Given the description of an element on the screen output the (x, y) to click on. 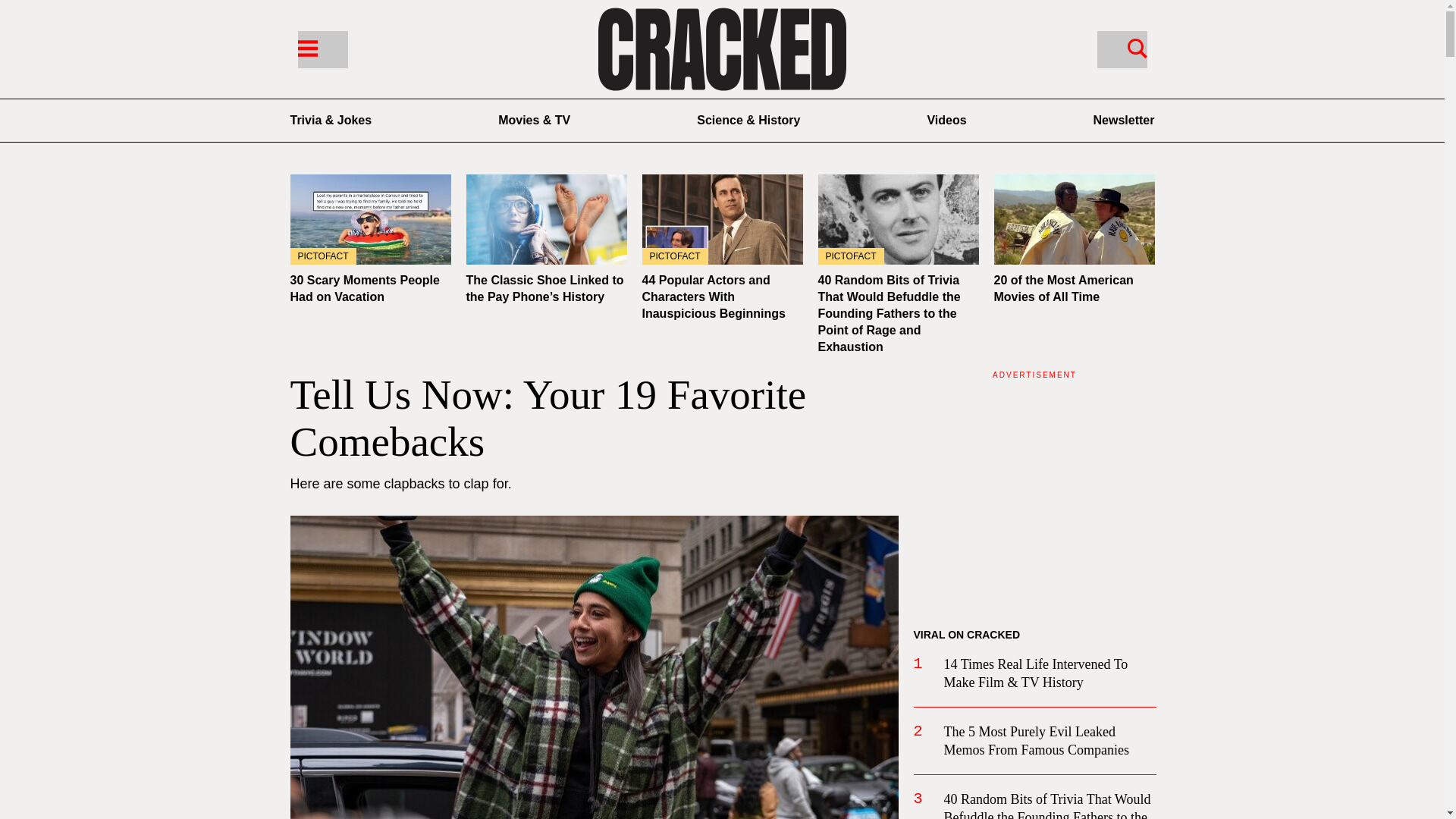
30 Scary Moments People Had on Vacation (364, 288)
PICTOFACT (897, 219)
PICTOFACT (722, 219)
Videos (946, 119)
Search (1136, 47)
Videos (946, 119)
PICTOFACT (369, 219)
Cracked Newsletter (1123, 119)
Menu (307, 47)
